Given the description of an element on the screen output the (x, y) to click on. 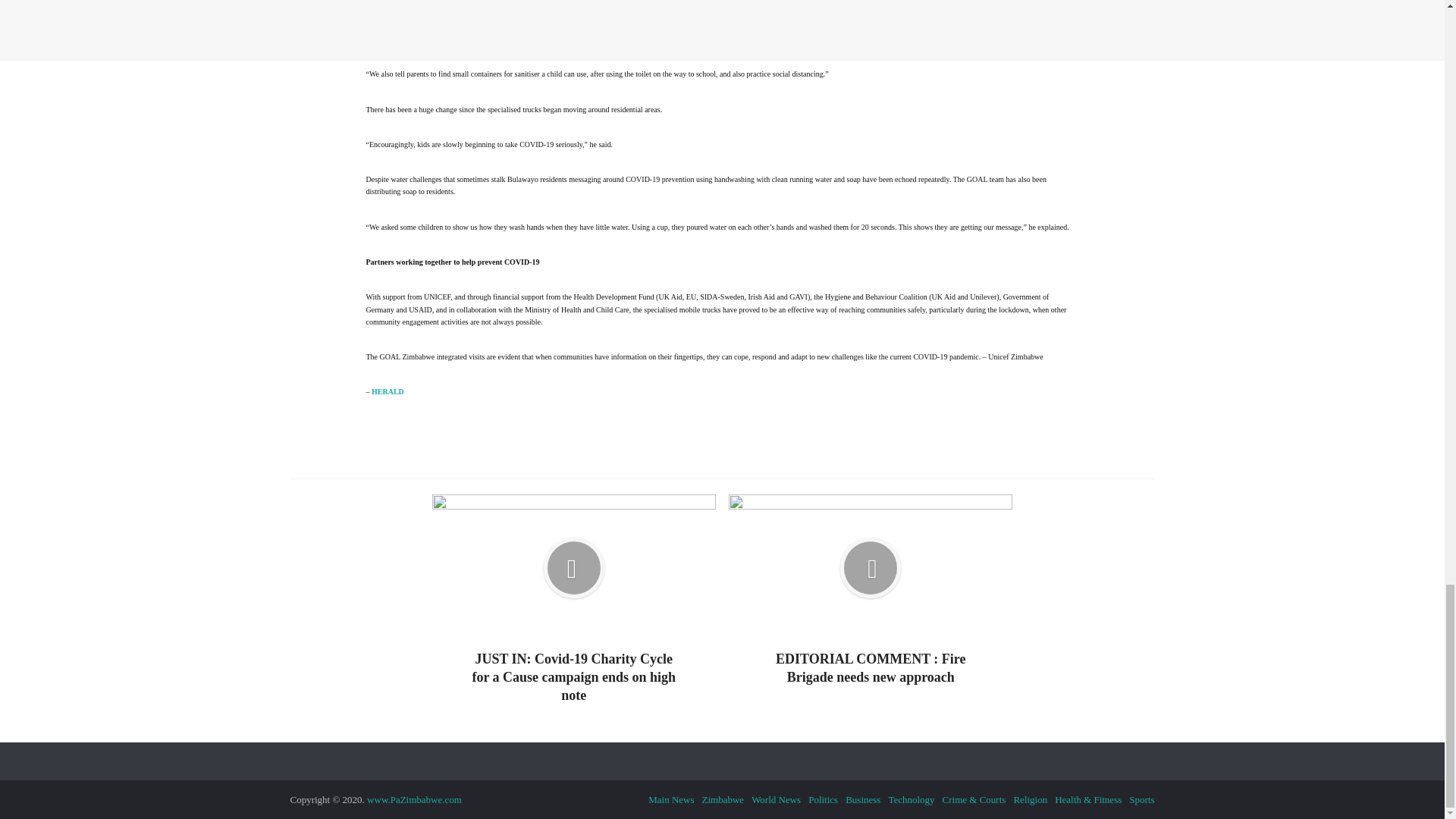
www.PaZimbabwe.com (413, 799)
Pinterest (741, 440)
Religion (1029, 799)
LinkedIn (789, 440)
Zimbabwe (722, 799)
Facebook (651, 440)
HERALD (387, 391)
World News (775, 799)
Technology (911, 799)
Politics (823, 799)
Twitter (698, 440)
Main News (670, 799)
Business (862, 799)
EDITORIAL COMMENT : Fire Brigade needs new approach (870, 590)
